Given the description of an element on the screen output the (x, y) to click on. 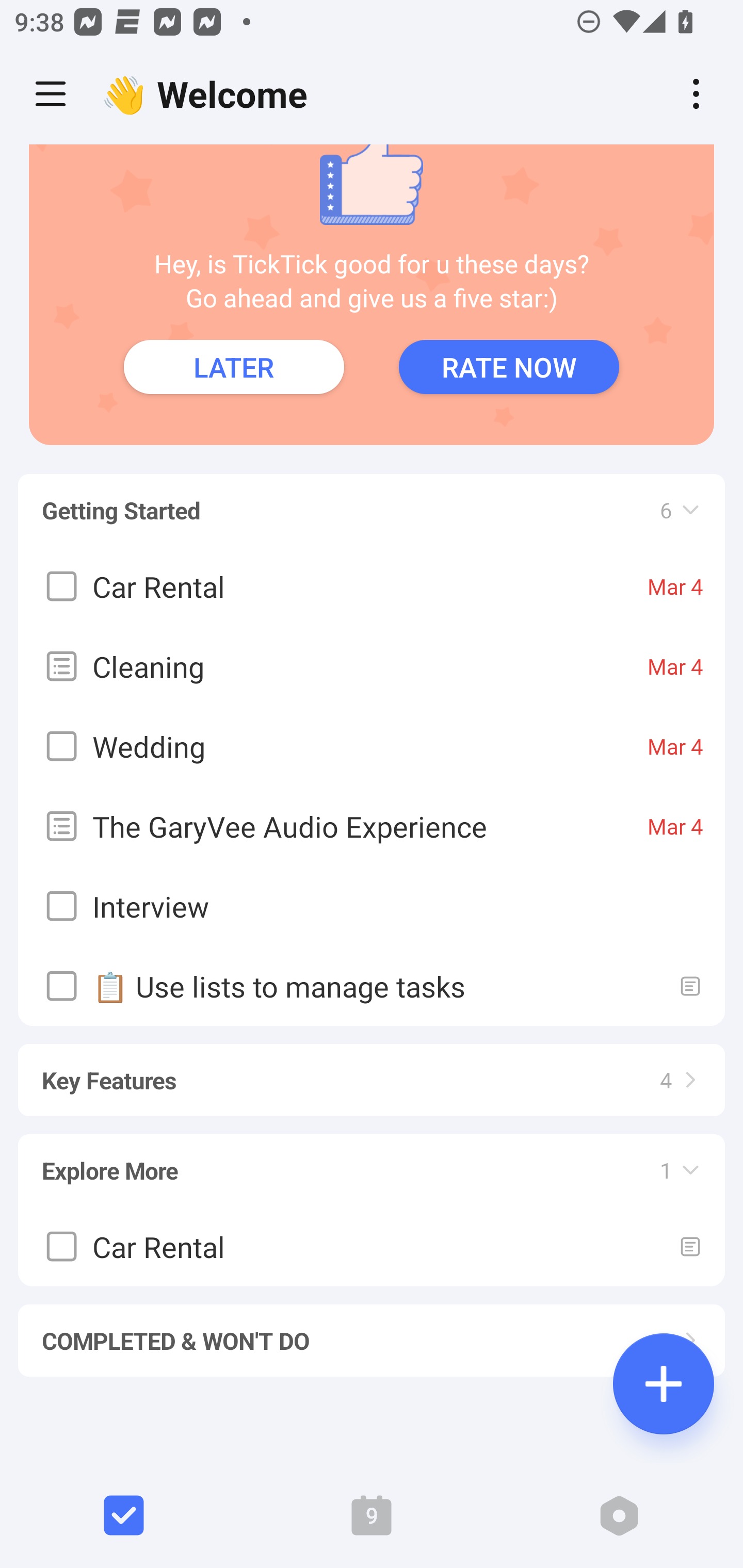
👋 Welcome (209, 93)
LATER (234, 366)
RATE NOW (508, 366)
Getting Started 6 (371, 500)
Car Rental Mar 4 (371, 585)
Mar 4 (675, 585)
Cleaning Mar 4 (371, 665)
Mar 4 (675, 665)
Wedding Mar 4 (371, 745)
Mar 4 (675, 745)
The GaryVee Audio Experience Mar 4 (371, 825)
Mar 4 (675, 825)
Interview (371, 905)
📋 Use lists to manage tasks (371, 985)
Key Features 4 (371, 1070)
Explore More 1 (371, 1160)
Car Rental (371, 1245)
COMPLETED & WON'T DO 2 (371, 1330)
